Given the description of an element on the screen output the (x, y) to click on. 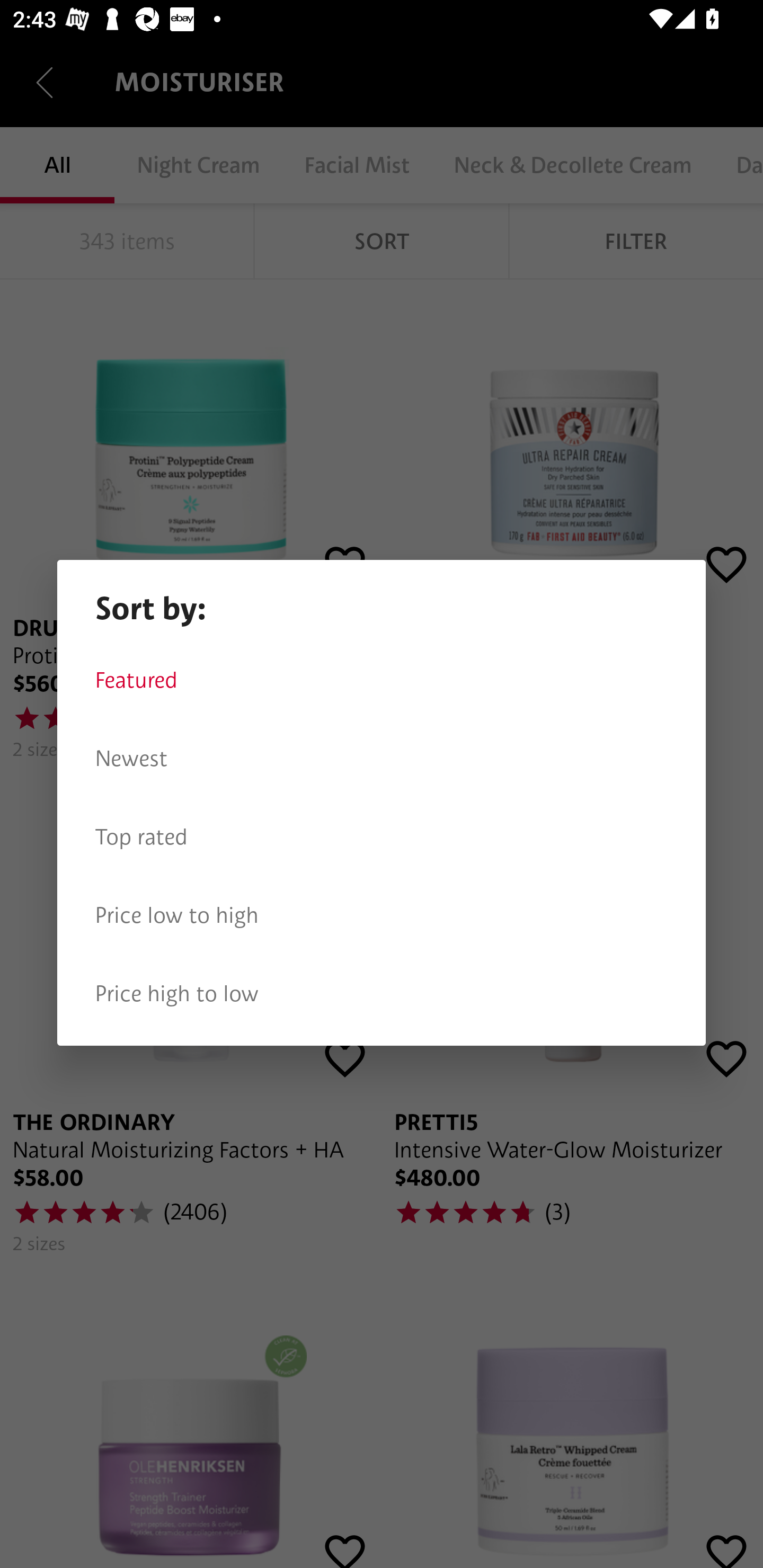
Featured (381, 680)
Newest (381, 758)
Top rated (381, 837)
Price low to high (381, 915)
Price high to low (381, 993)
